Given the description of an element on the screen output the (x, y) to click on. 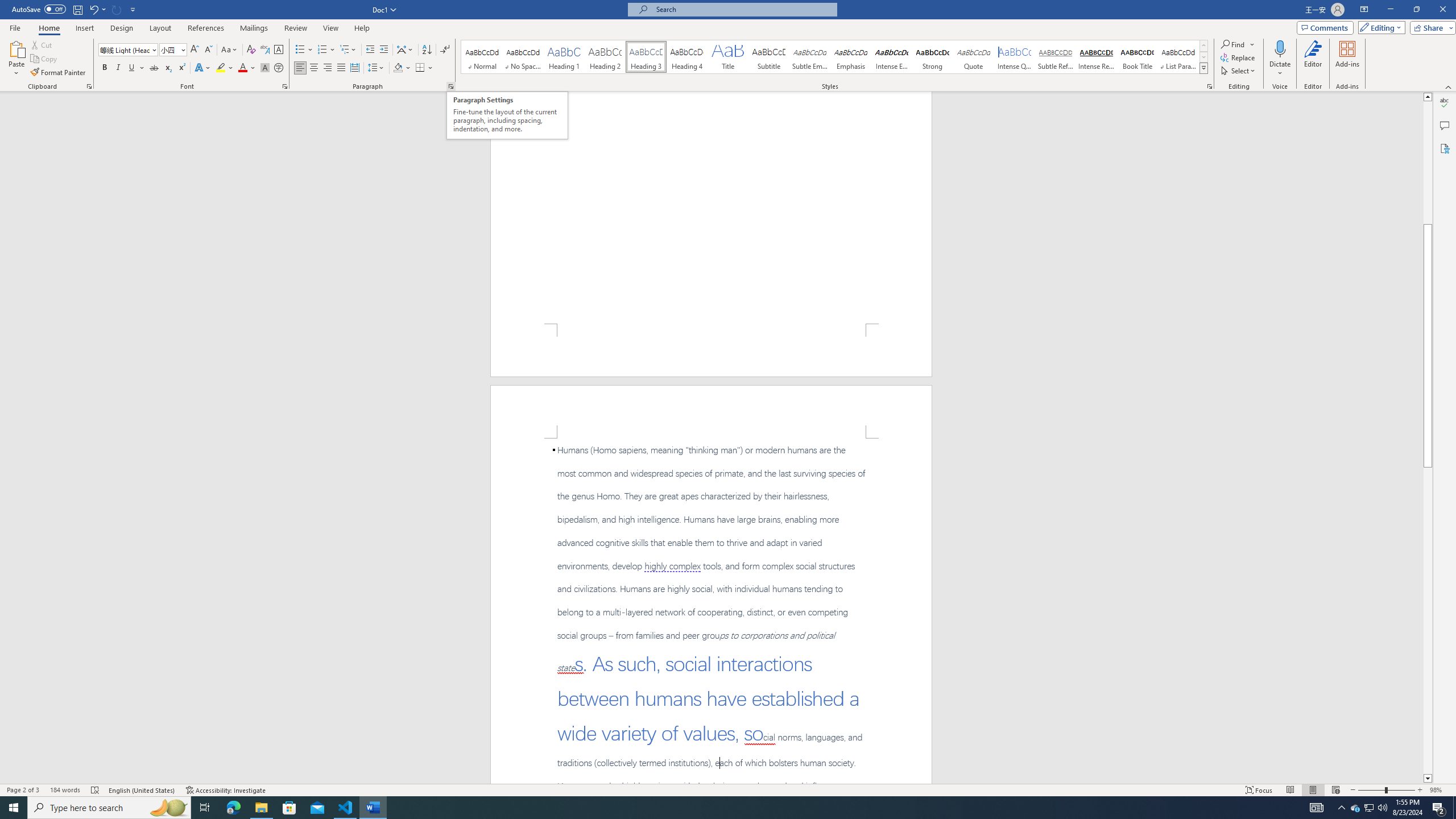
Decrease Indent (370, 49)
Phonetic Guide... (264, 49)
Align Right (327, 67)
Line and Paragraph Spacing (376, 67)
Font Color (246, 67)
Page up (1427, 162)
Strong (932, 56)
Emphasis (849, 56)
Page Number Page 2 of 3 (22, 790)
Page down (1427, 620)
